Given the description of an element on the screen output the (x, y) to click on. 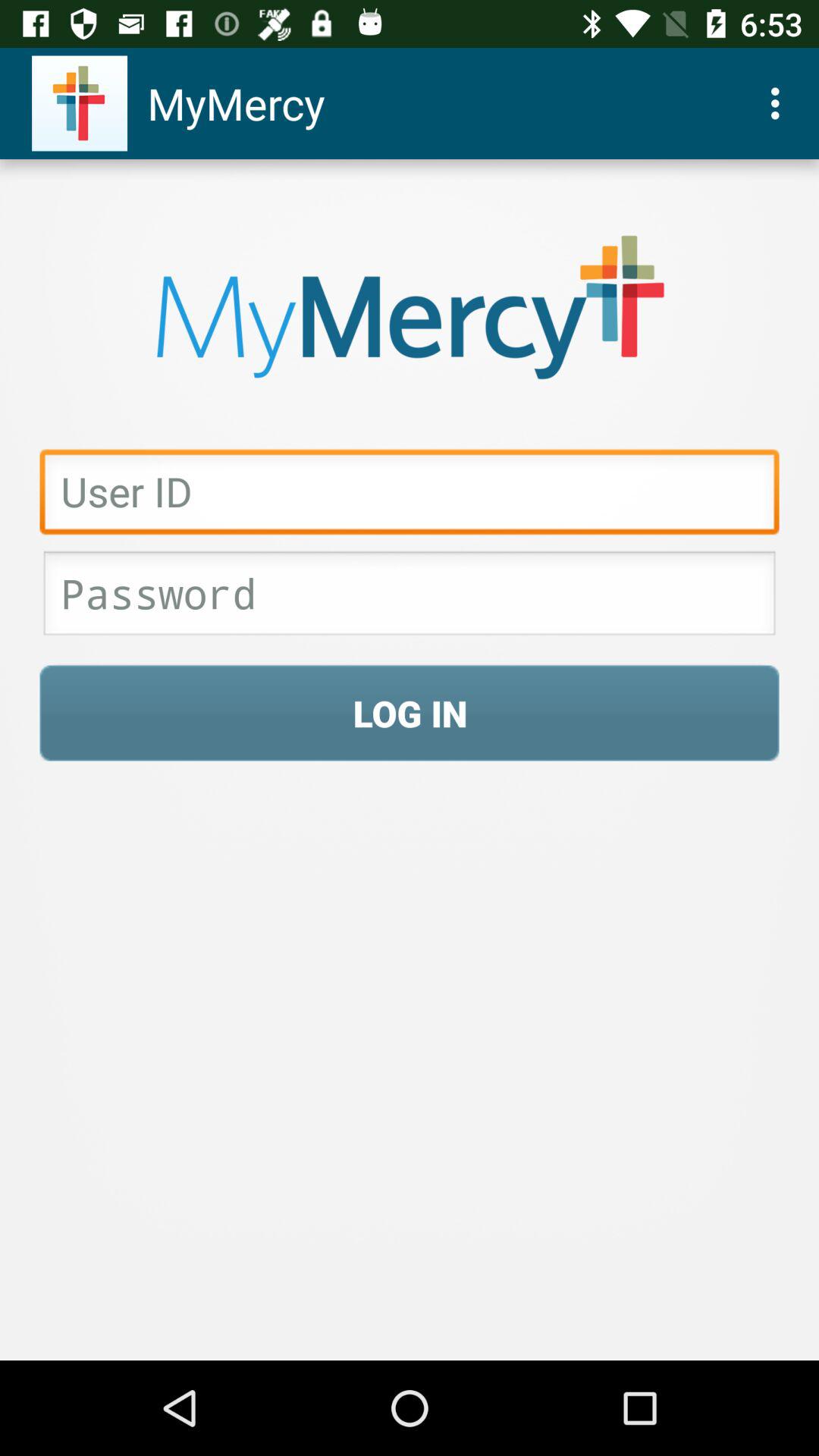
tap icon next to the mymercy (779, 103)
